Given the description of an element on the screen output the (x, y) to click on. 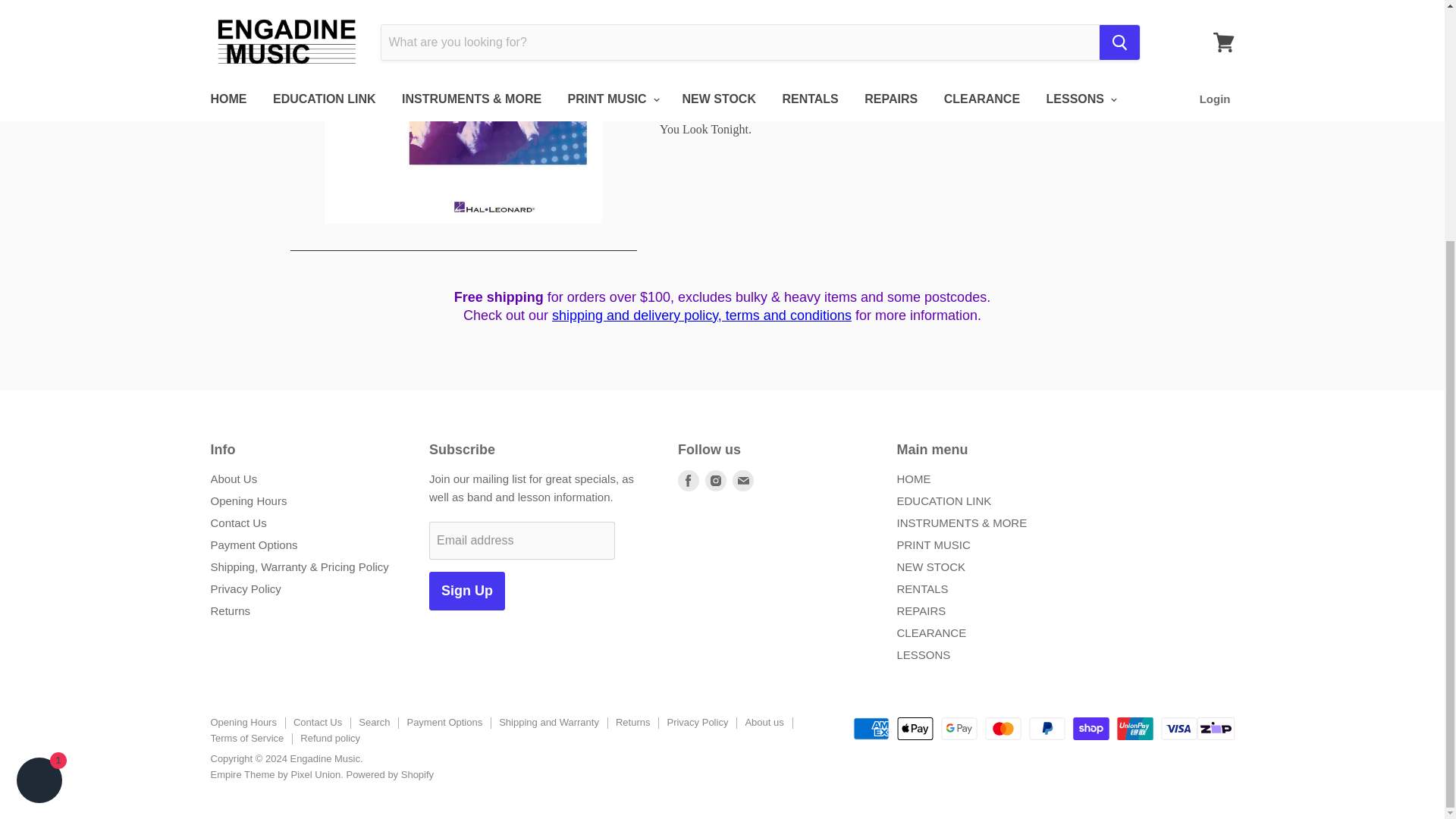
1 (709, 32)
Mastercard (1003, 728)
Union Pay (1134, 728)
Facebook (688, 480)
Shopify online store chat (38, 449)
E-mail (743, 480)
American Express (871, 728)
Instagram (715, 480)
Google Pay (958, 728)
Visa (1178, 728)
PayPal (1047, 728)
Shop Pay (1091, 728)
Apple Pay (914, 728)
